Given the description of an element on the screen output the (x, y) to click on. 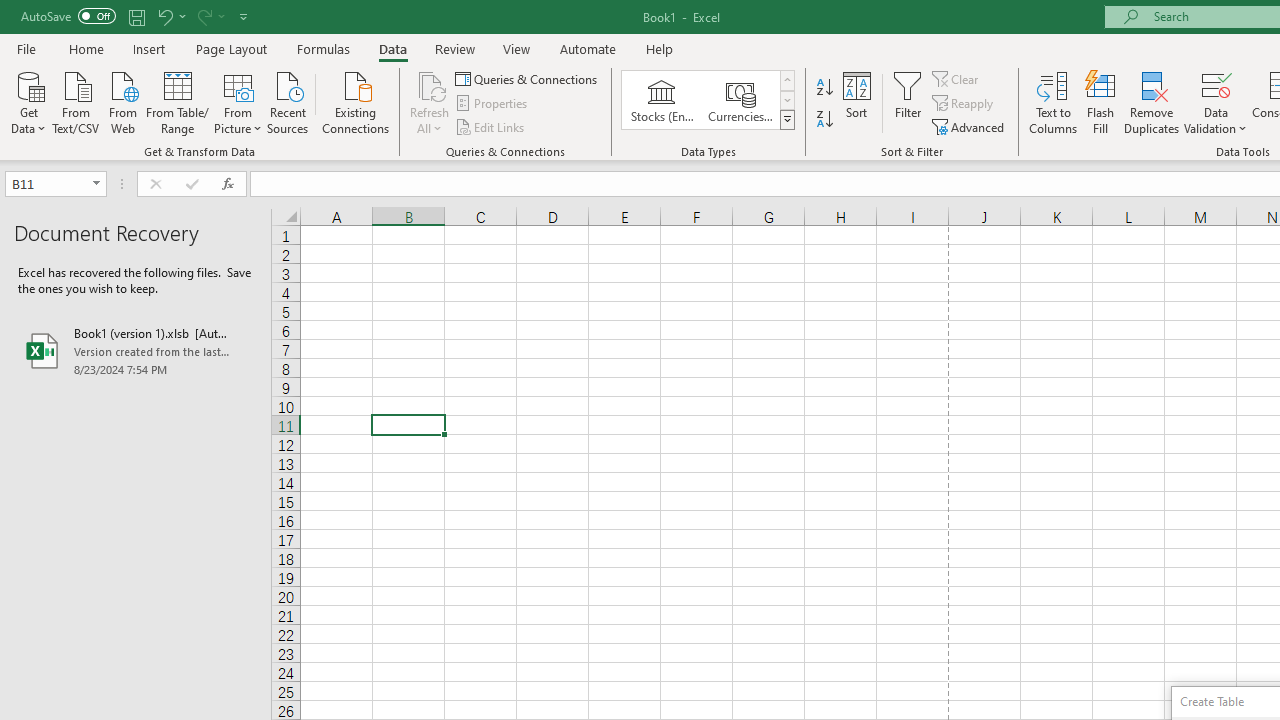
Sort A to Z (824, 87)
